Given the description of an element on the screen output the (x, y) to click on. 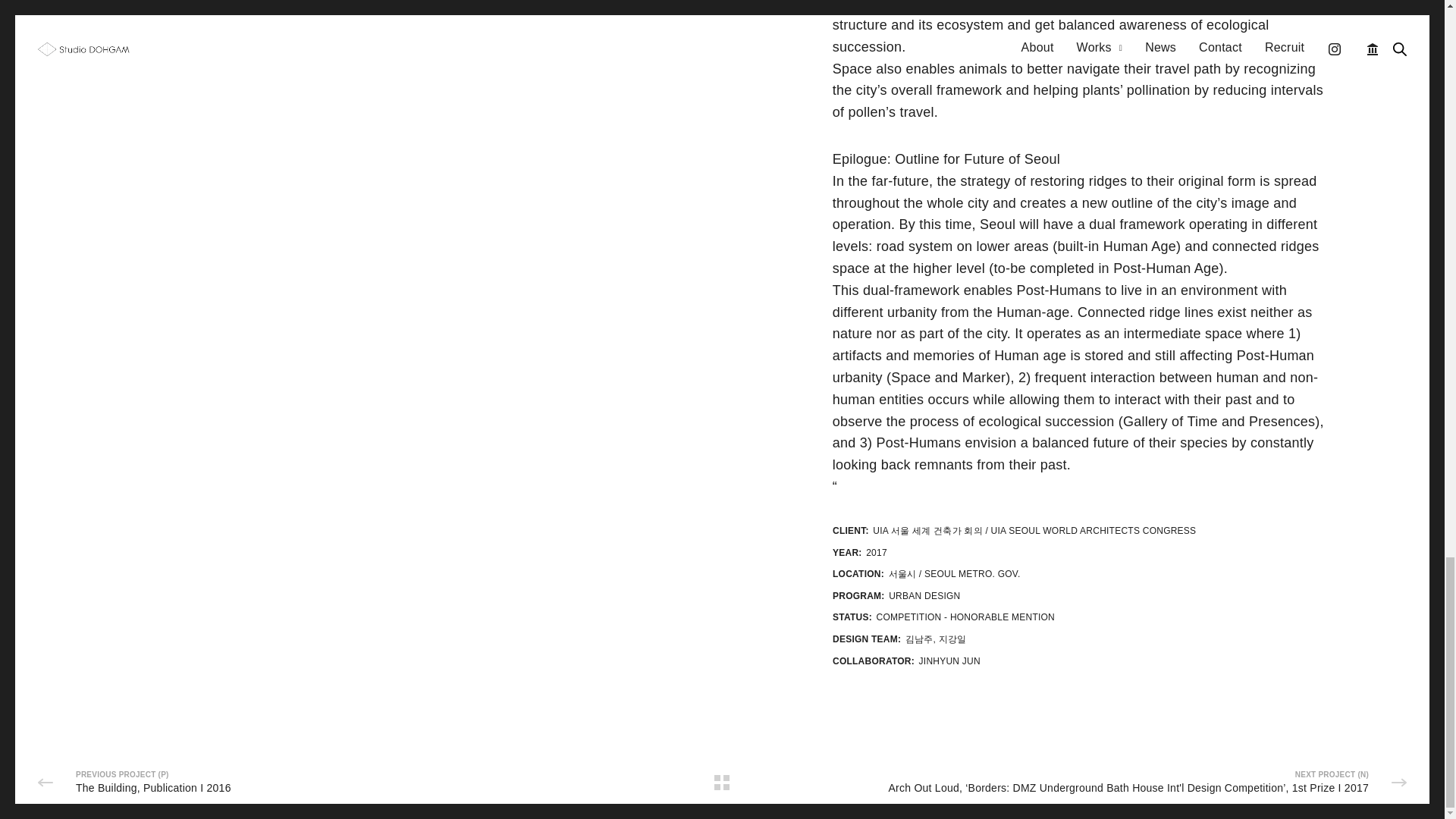
Back (721, 782)
